Given the description of an element on the screen output the (x, y) to click on. 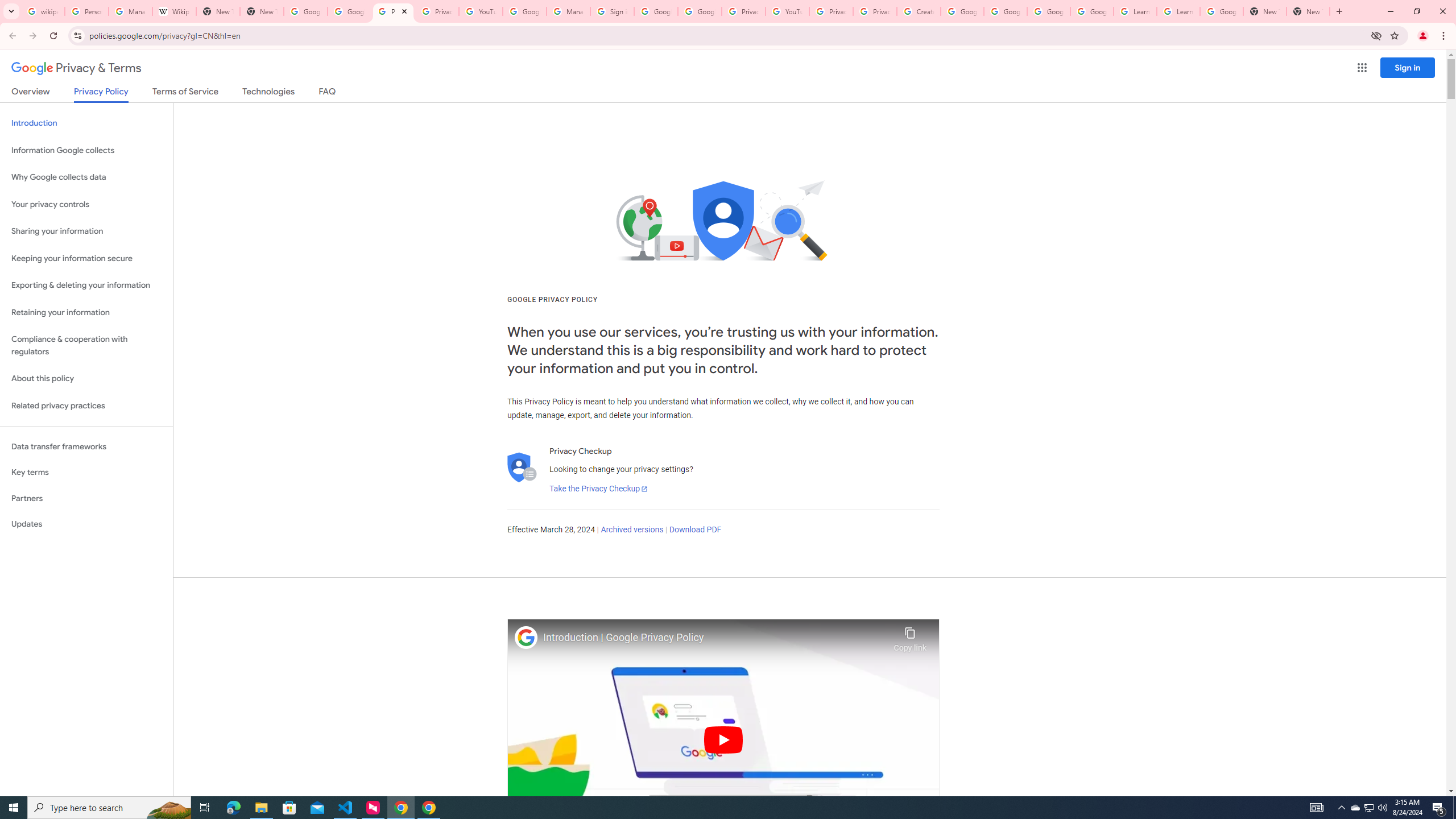
Introduction | Google Privacy Policy (715, 637)
Google Account Help (1005, 11)
